Given the description of an element on the screen output the (x, y) to click on. 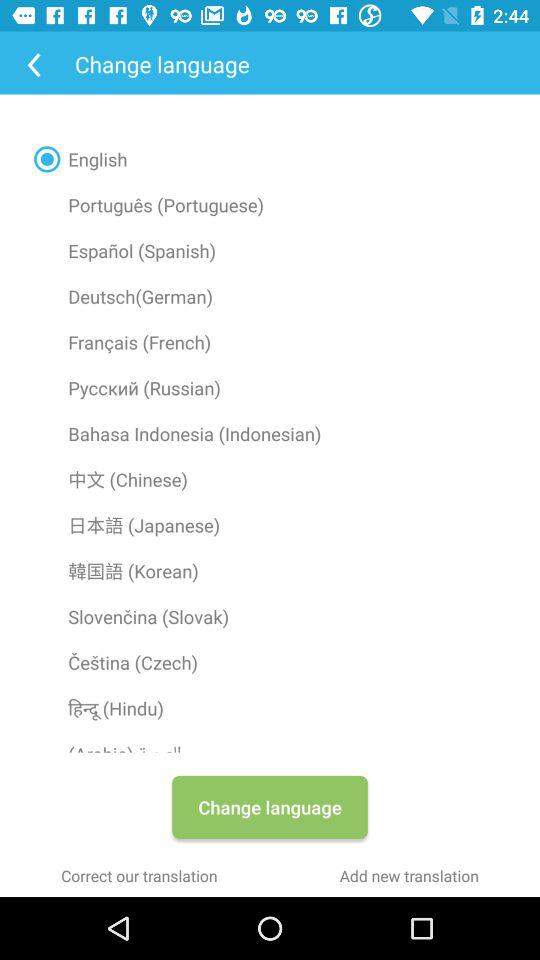
swipe to the bahasa indonesia (indonesian) radio button (269, 433)
